Given the description of an element on the screen output the (x, y) to click on. 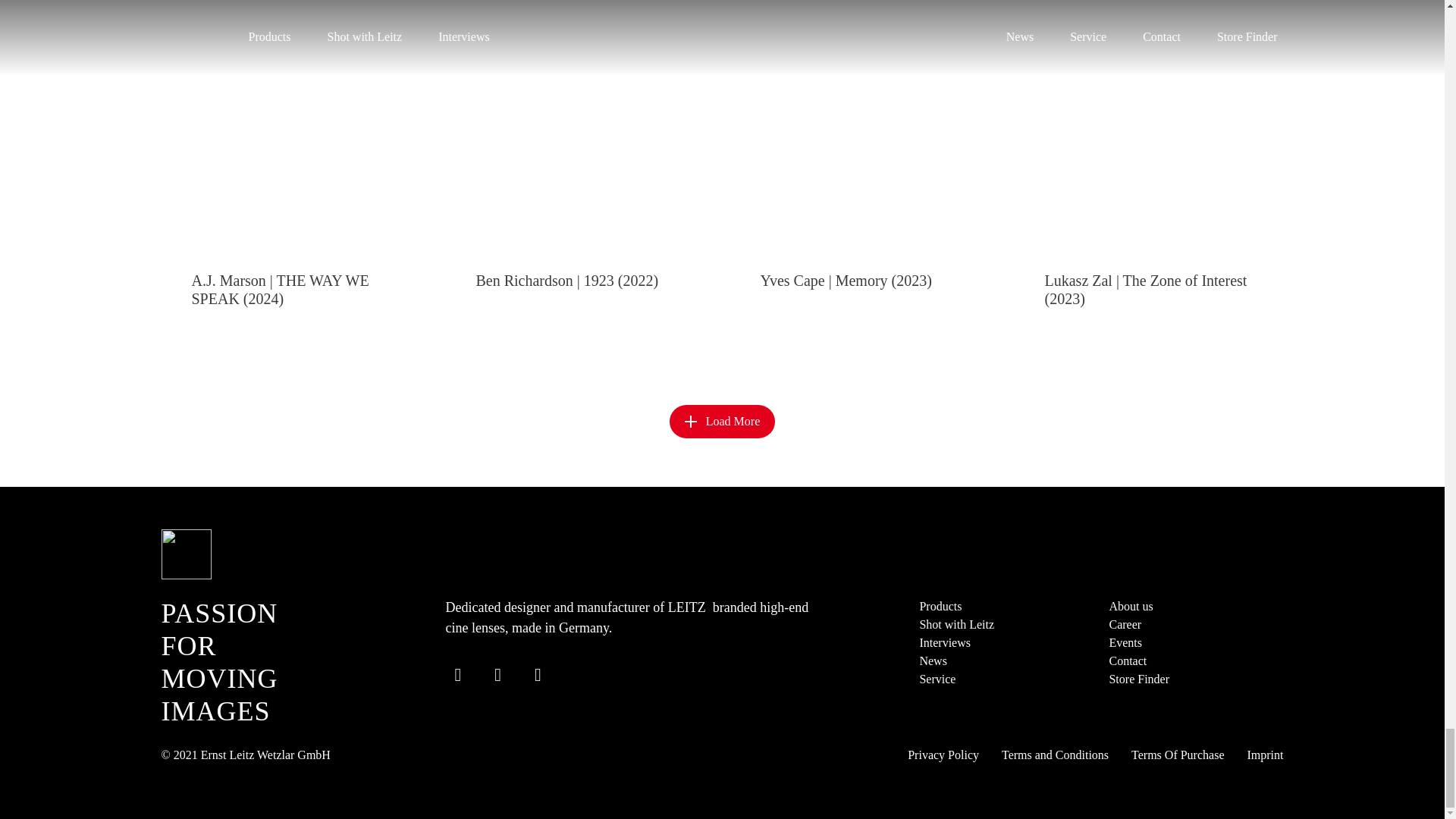
Career (1124, 624)
Imprint (1264, 754)
Shot with Leitz (956, 624)
Interviews (944, 642)
Contact (1127, 660)
News (932, 660)
Terms Of Purchase (1177, 754)
Store Finder (1138, 678)
Service (936, 678)
Terms and Conditions (1054, 754)
Privacy Policy (942, 754)
About us (1130, 605)
Events (1124, 642)
Products (939, 605)
